Given the description of an element on the screen output the (x, y) to click on. 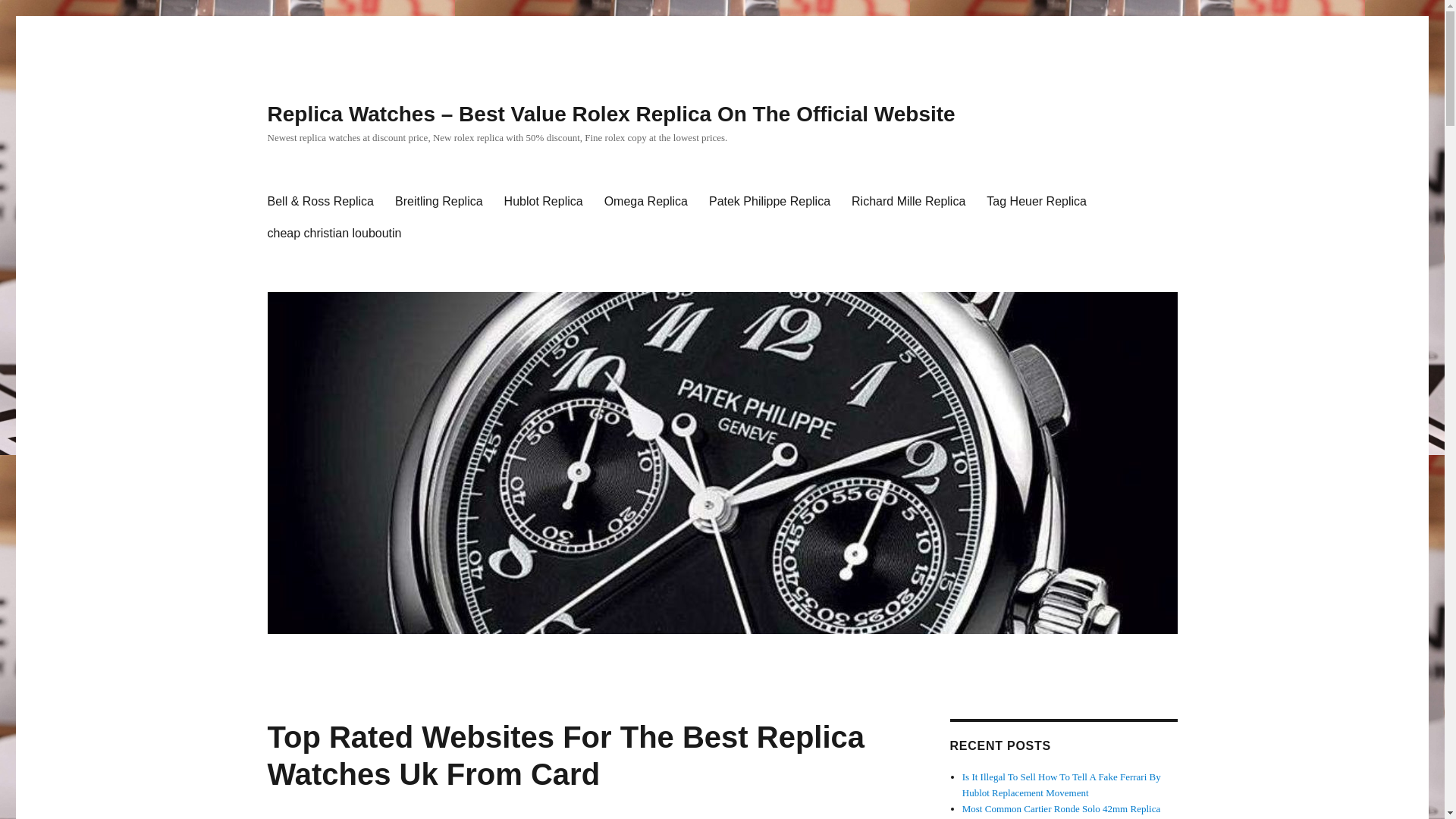
Breitling Replica (438, 201)
Most Common Cartier Ronde Solo 42mm Replica Amazon (1061, 811)
cheap christian louboutin (334, 233)
Tag Heuer Replica (1036, 201)
Hublot Replica (543, 201)
Patek Philippe Replica (769, 201)
Omega Replica (646, 201)
Richard Mille Replica (908, 201)
